Given the description of an element on the screen output the (x, y) to click on. 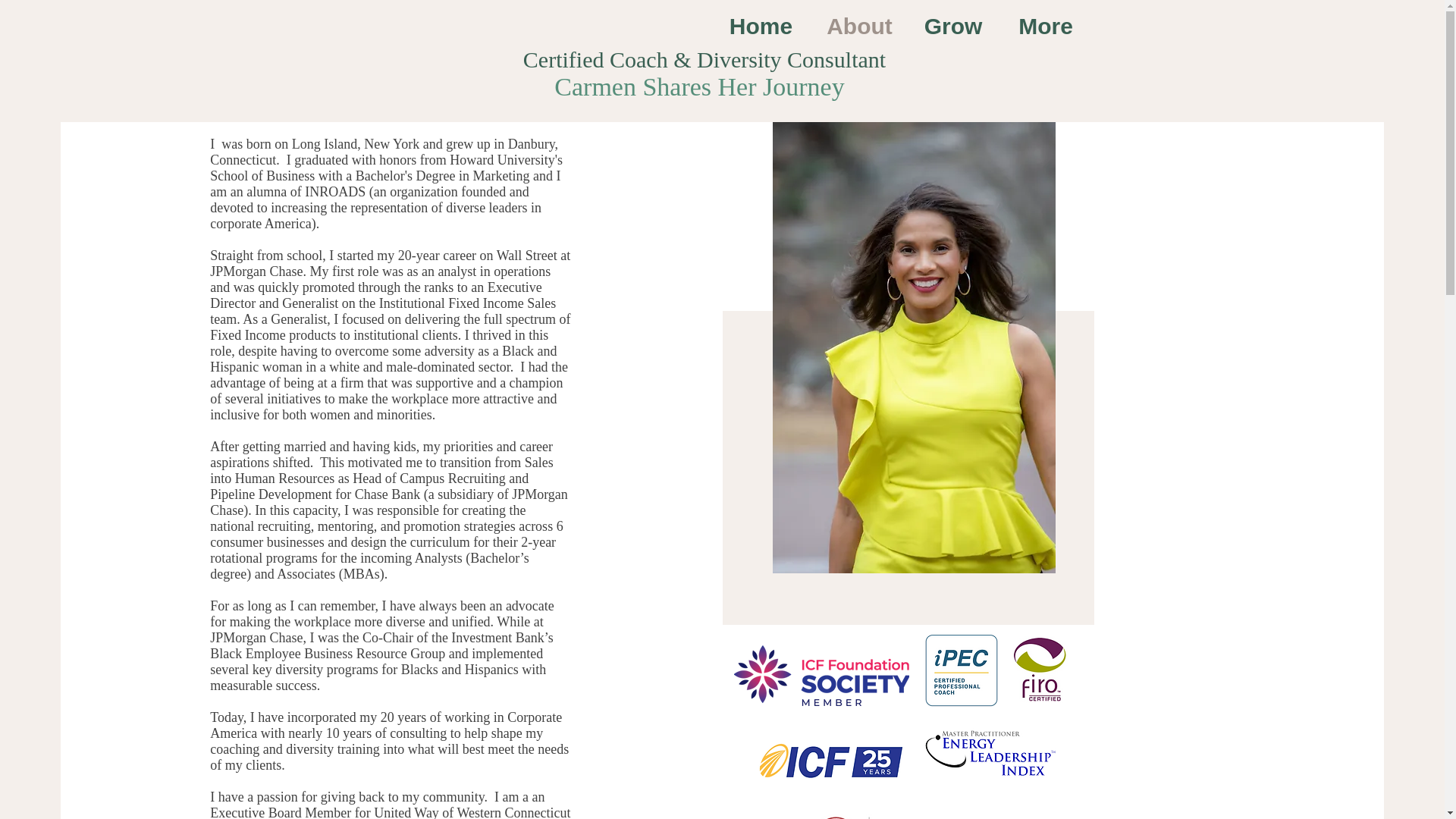
About (859, 23)
Home (760, 23)
Grow (953, 23)
